Given the description of an element on the screen output the (x, y) to click on. 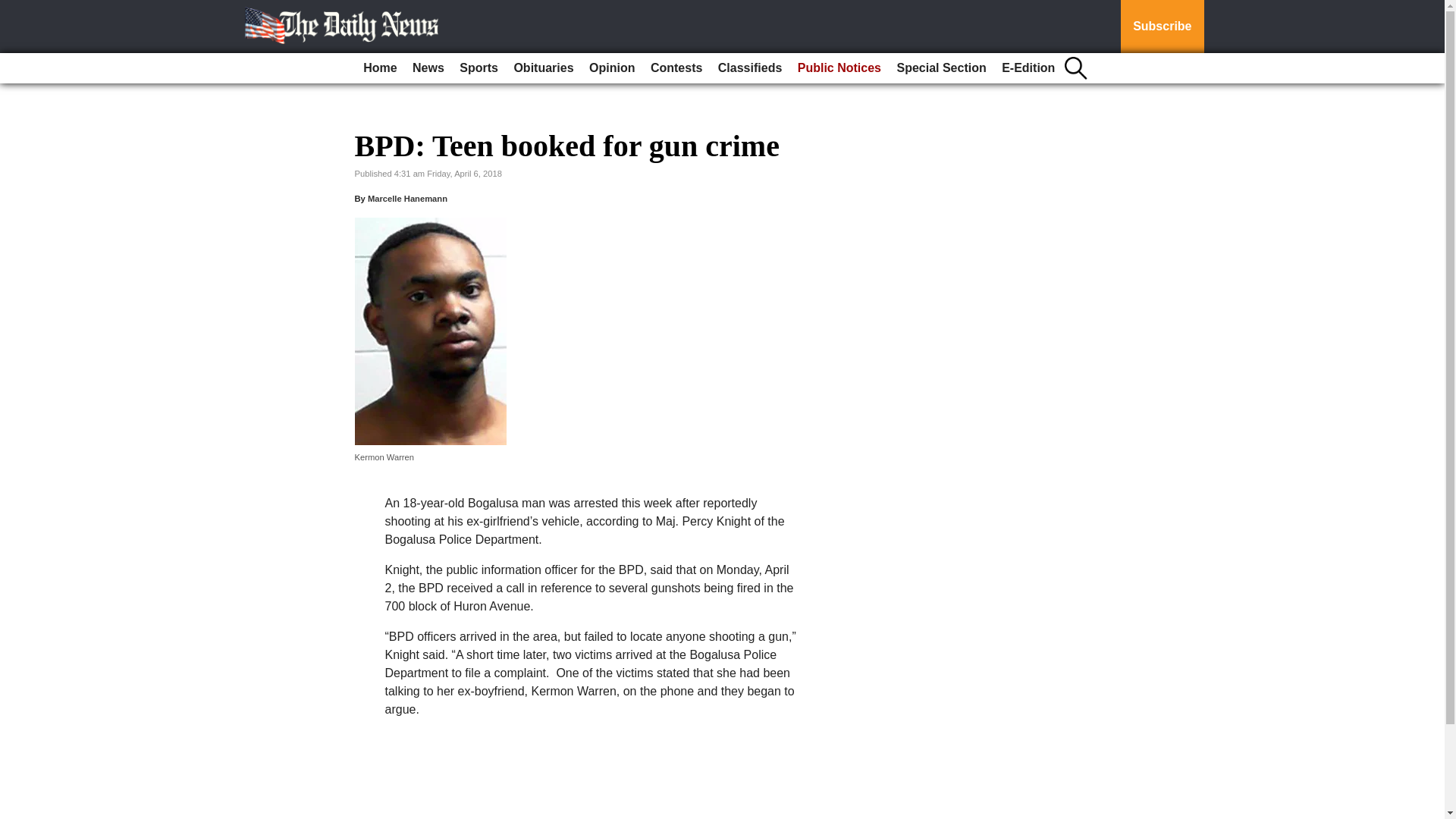
Classifieds (749, 68)
Go (13, 9)
Opinion (611, 68)
Sports (477, 68)
Marcelle Hanemann (407, 198)
E-Edition (1028, 68)
Public Notices (839, 68)
Home (379, 68)
Obituaries (542, 68)
Contests (676, 68)
